Given the description of an element on the screen output the (x, y) to click on. 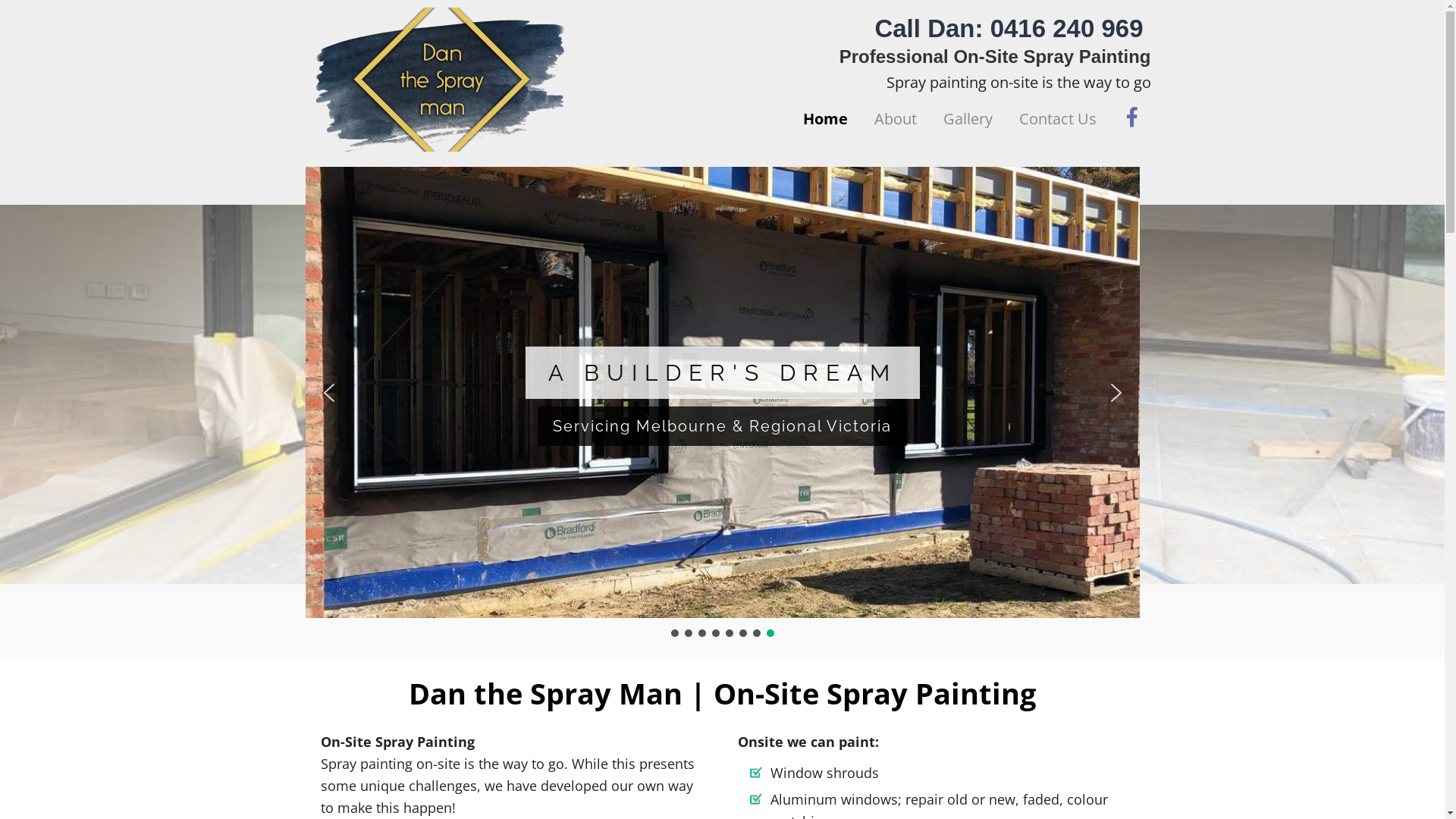
Home Element type: text (825, 118)
Contact Us Element type: text (1057, 118)
About Element type: text (895, 118)
Dan the Spray Man Element type: text (441, 79)
Call Dan: 0416 240 969 Element type: text (1012, 28)
Gallery Element type: text (967, 118)
